Given the description of an element on the screen output the (x, y) to click on. 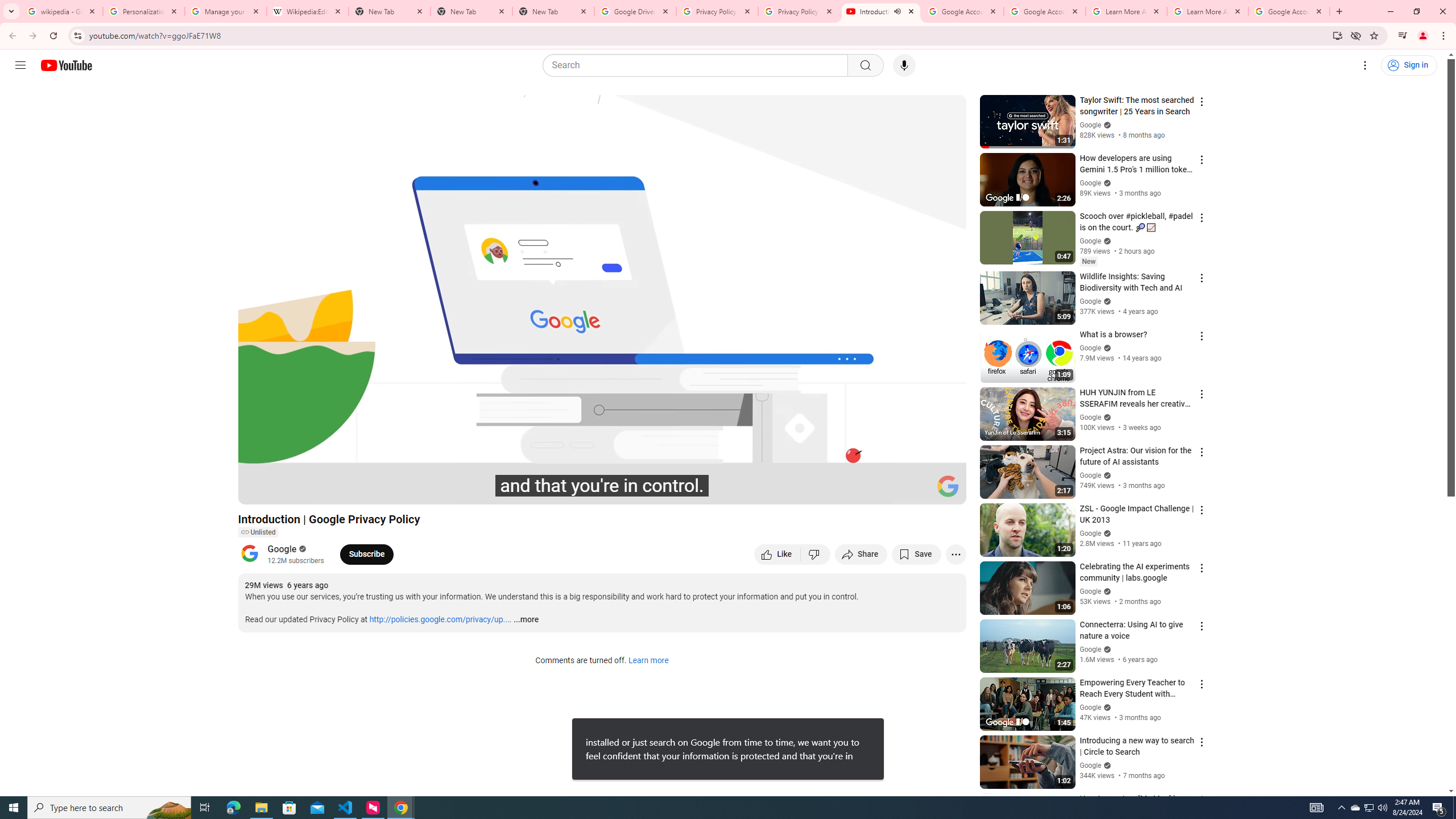
Theater mode (t) (917, 490)
Personalization & Google Search results - Google Search Help (143, 11)
New Tab (552, 11)
http://policies.google.com/privacy/up... (439, 619)
Guide (20, 65)
Install YouTube (1336, 35)
Unlisted (257, 532)
